Given the description of an element on the screen output the (x, y) to click on. 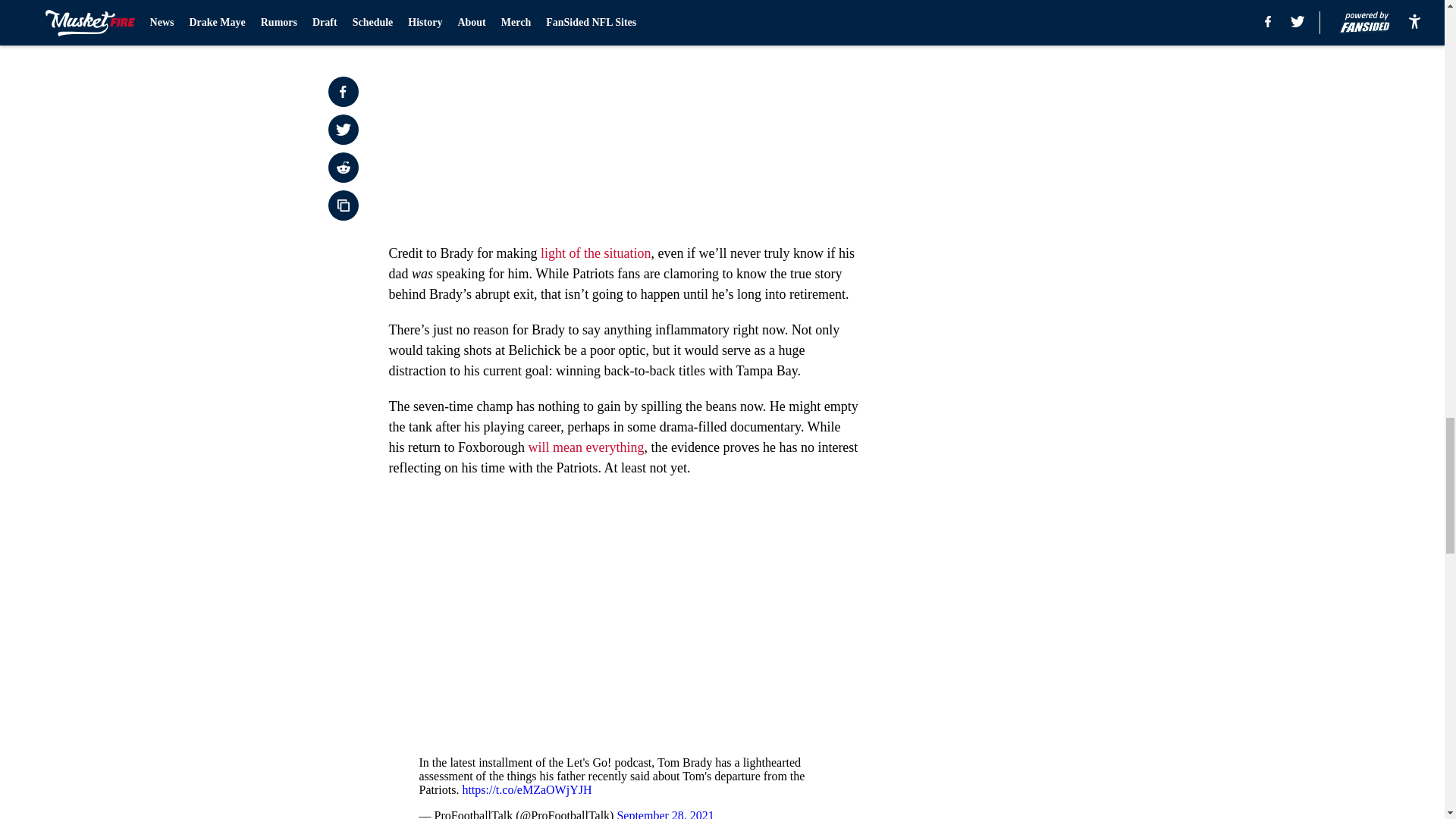
light of the situation (593, 253)
September 28, 2021 (664, 814)
will mean everything (585, 447)
